Given the description of an element on the screen output the (x, y) to click on. 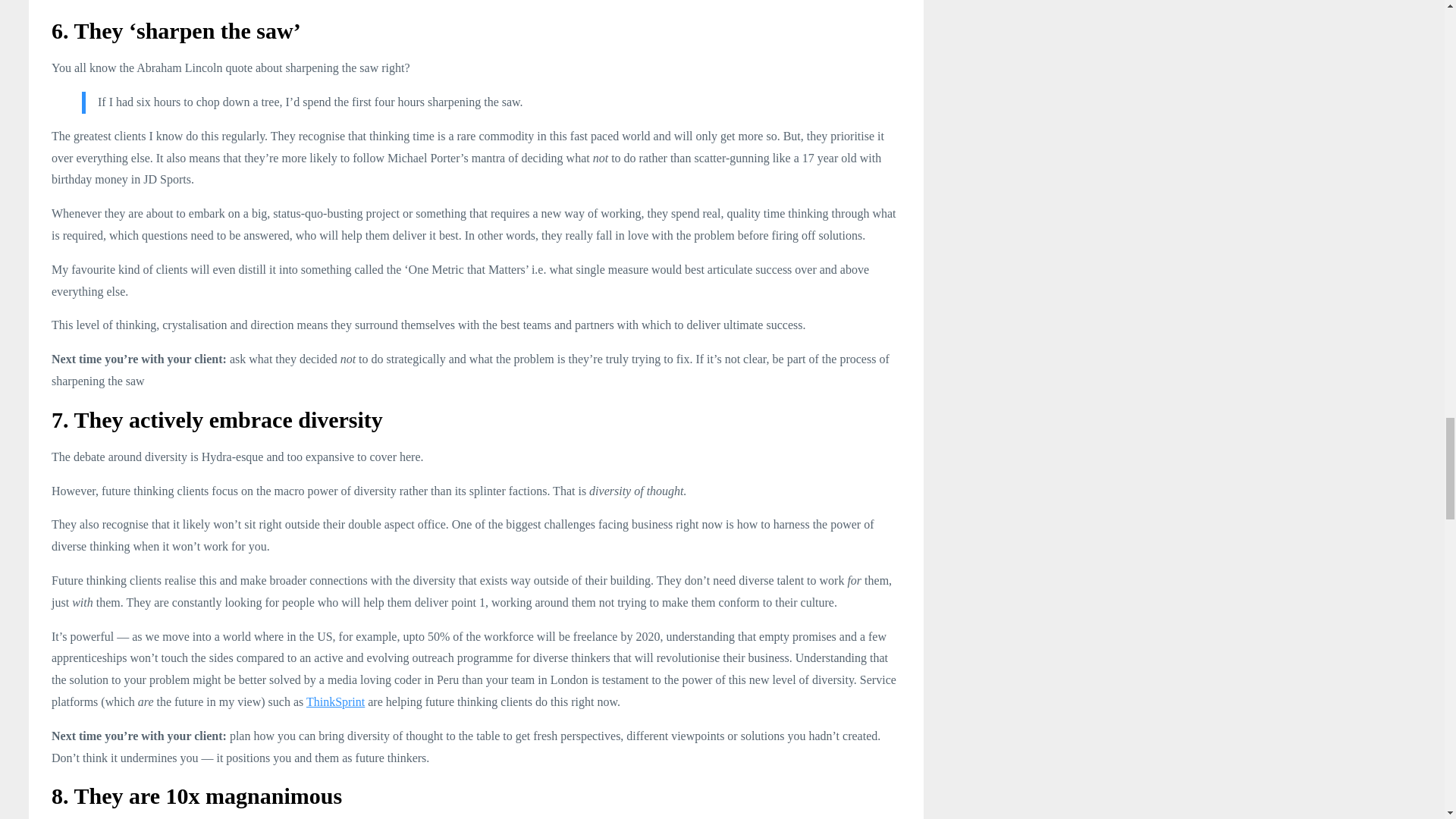
ThinkSprint (335, 701)
